Given the description of an element on the screen output the (x, y) to click on. 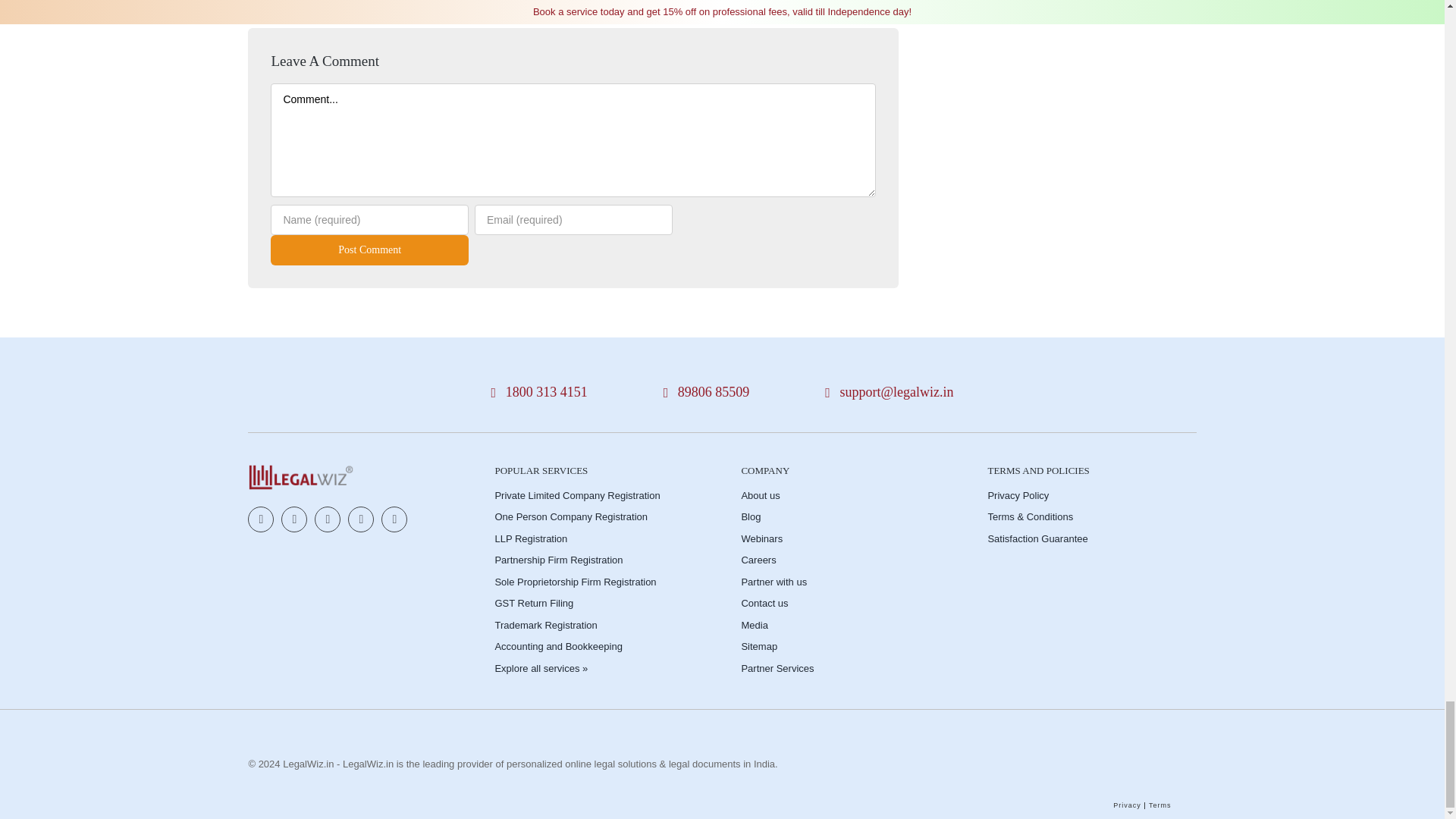
Instagram (327, 519)
Post Comment (369, 250)
Twitter (294, 519)
Facebook (260, 519)
